Given the description of an element on the screen output the (x, y) to click on. 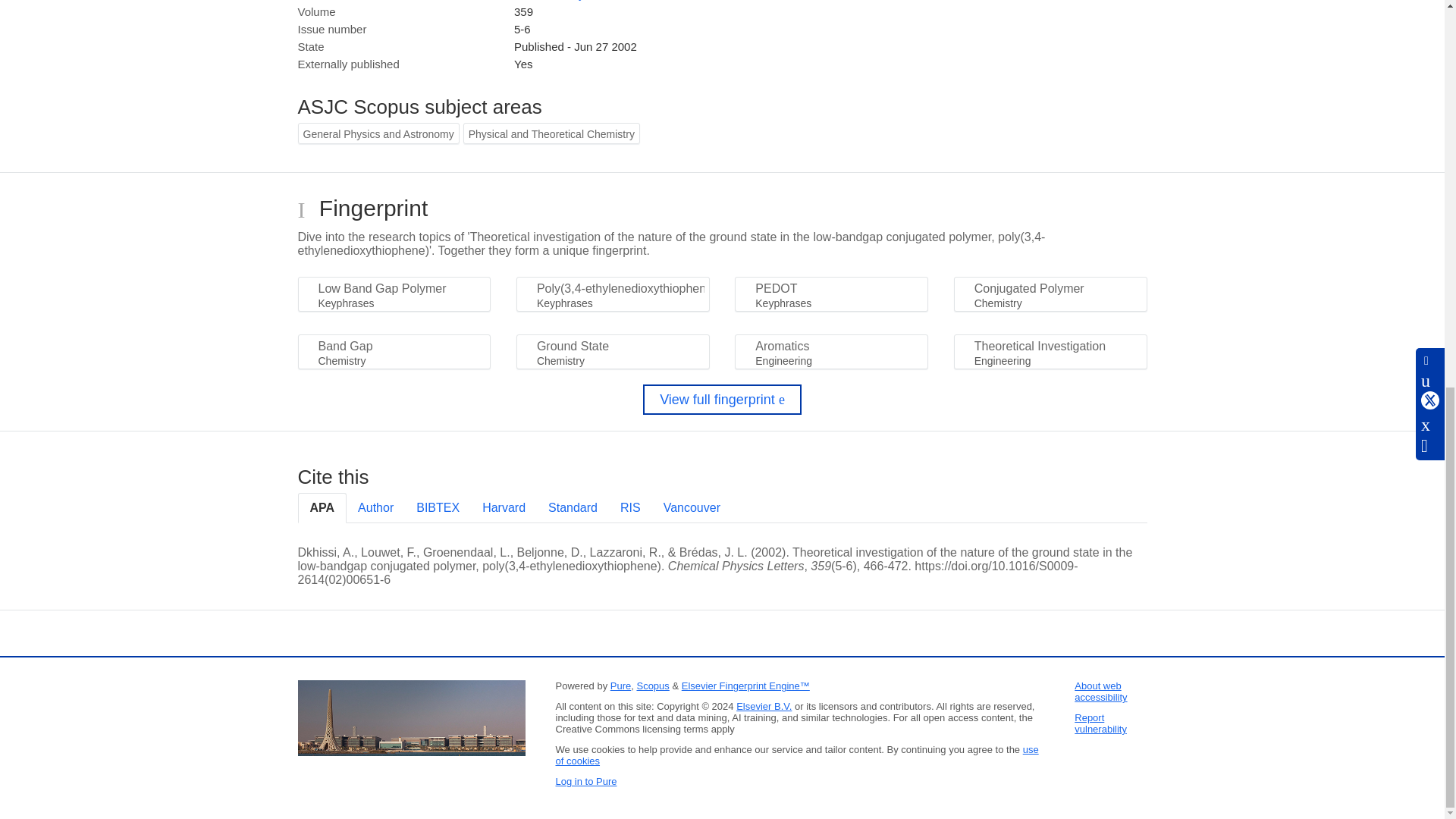
View full fingerprint (722, 399)
Scopus (652, 685)
Elsevier B.V. (764, 706)
Pure (620, 685)
